Given the description of an element on the screen output the (x, y) to click on. 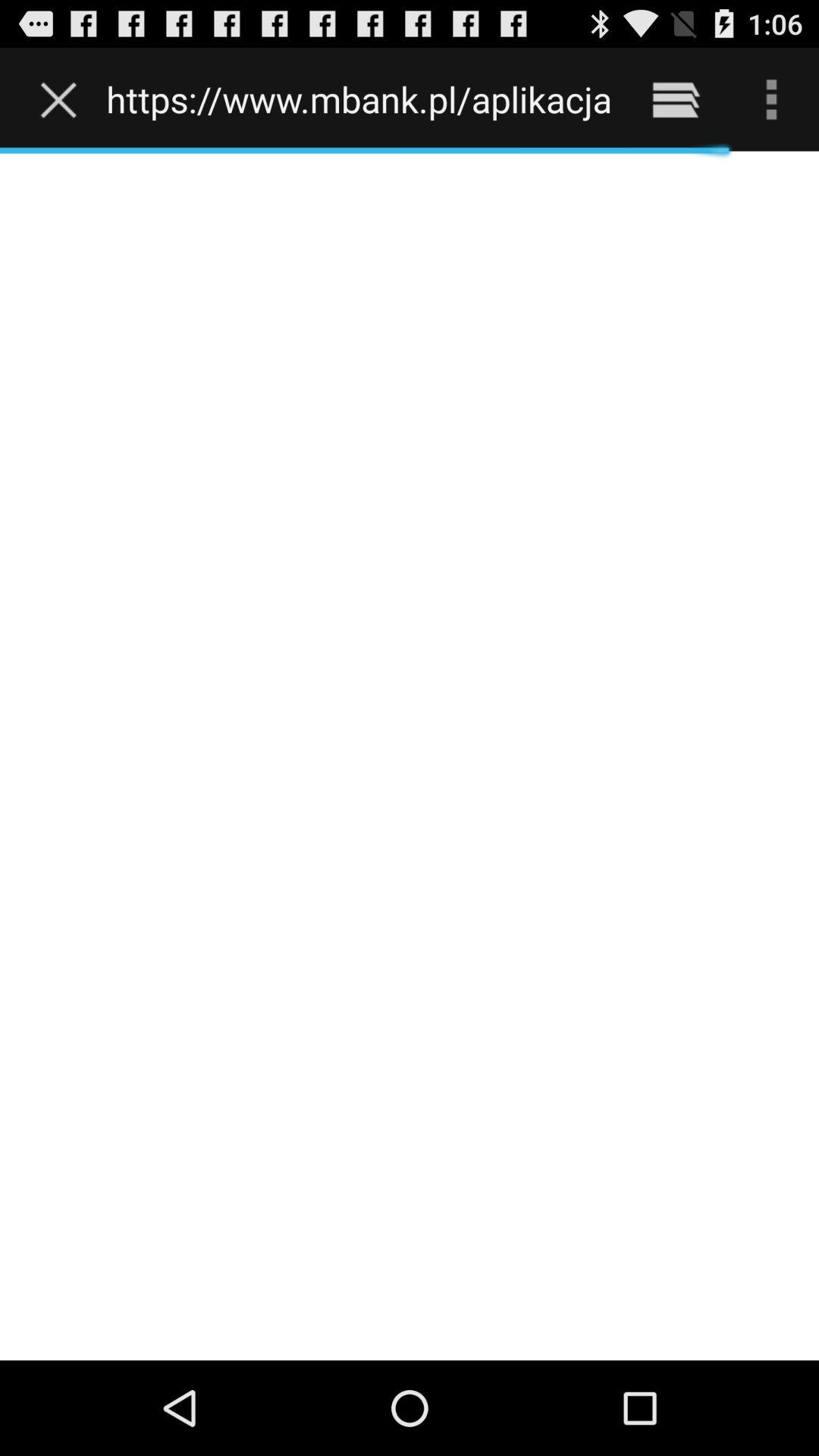
launch the icon next to https www mbank (675, 99)
